Given the description of an element on the screen output the (x, y) to click on. 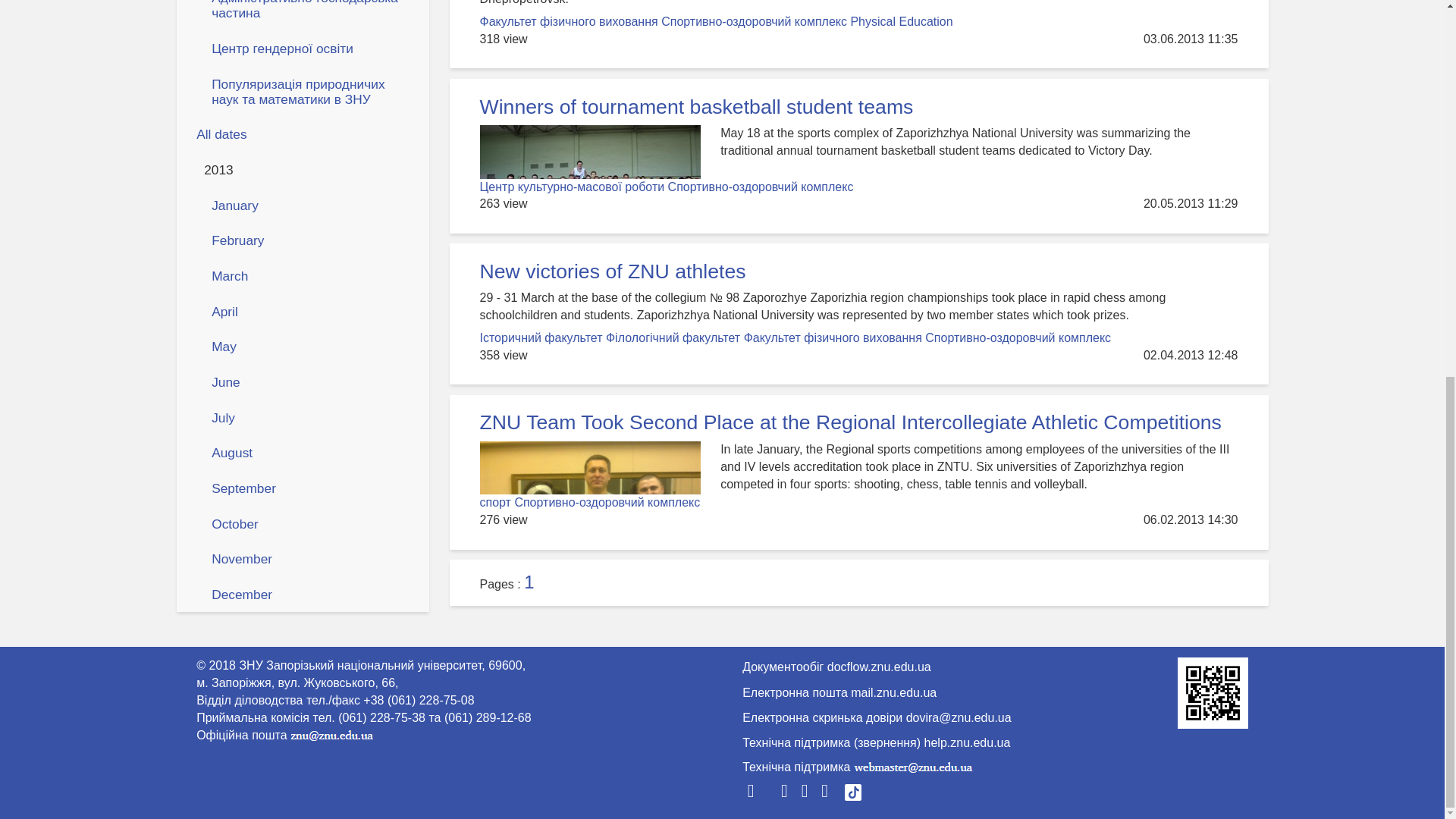
June (310, 381)
March (310, 275)
February (310, 240)
April (310, 311)
July (310, 417)
May (310, 346)
All dates (302, 133)
January (310, 205)
